Given the description of an element on the screen output the (x, y) to click on. 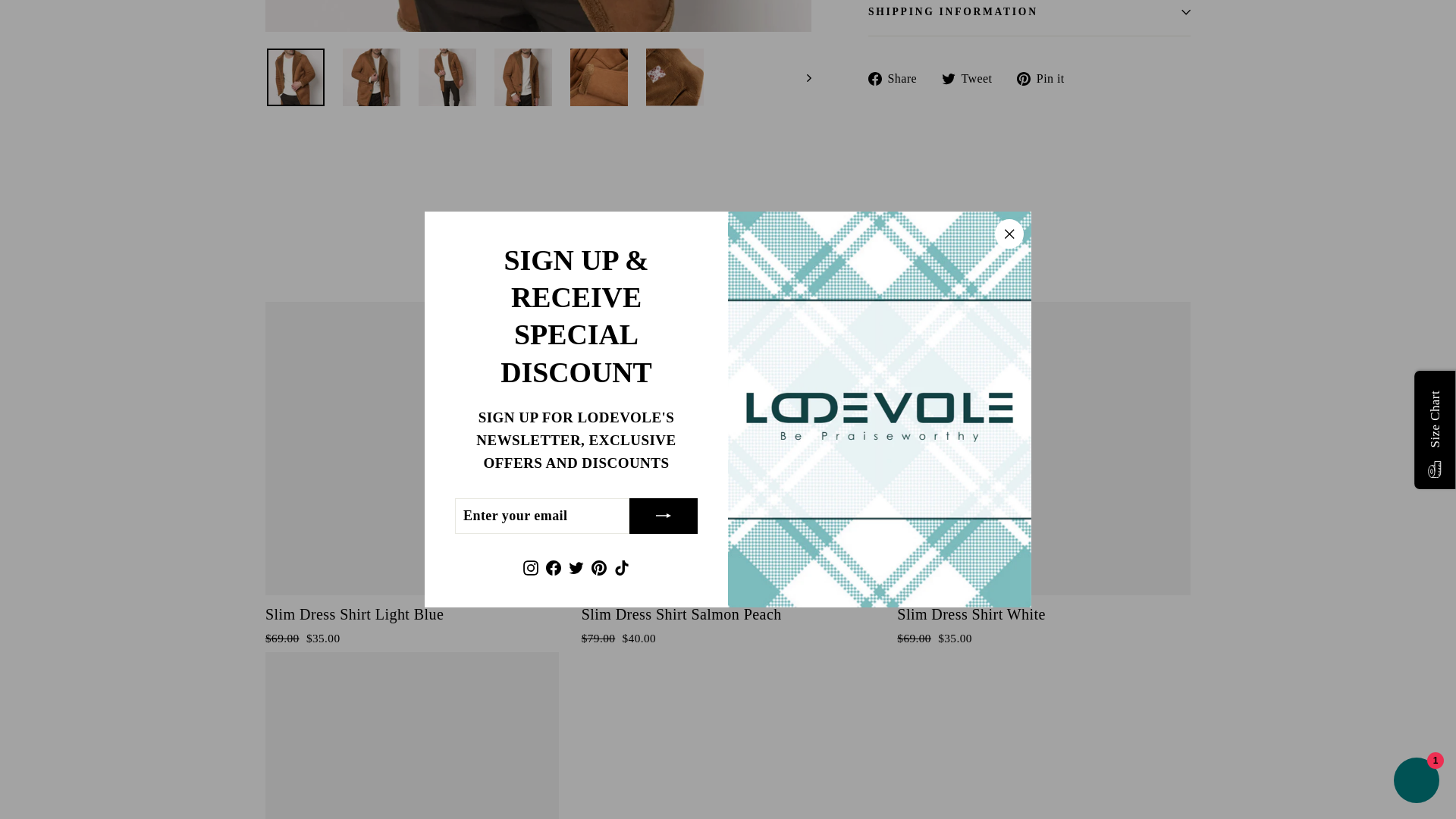
Tweet on Twitter (972, 77)
twitter (948, 78)
